Given the description of an element on the screen output the (x, y) to click on. 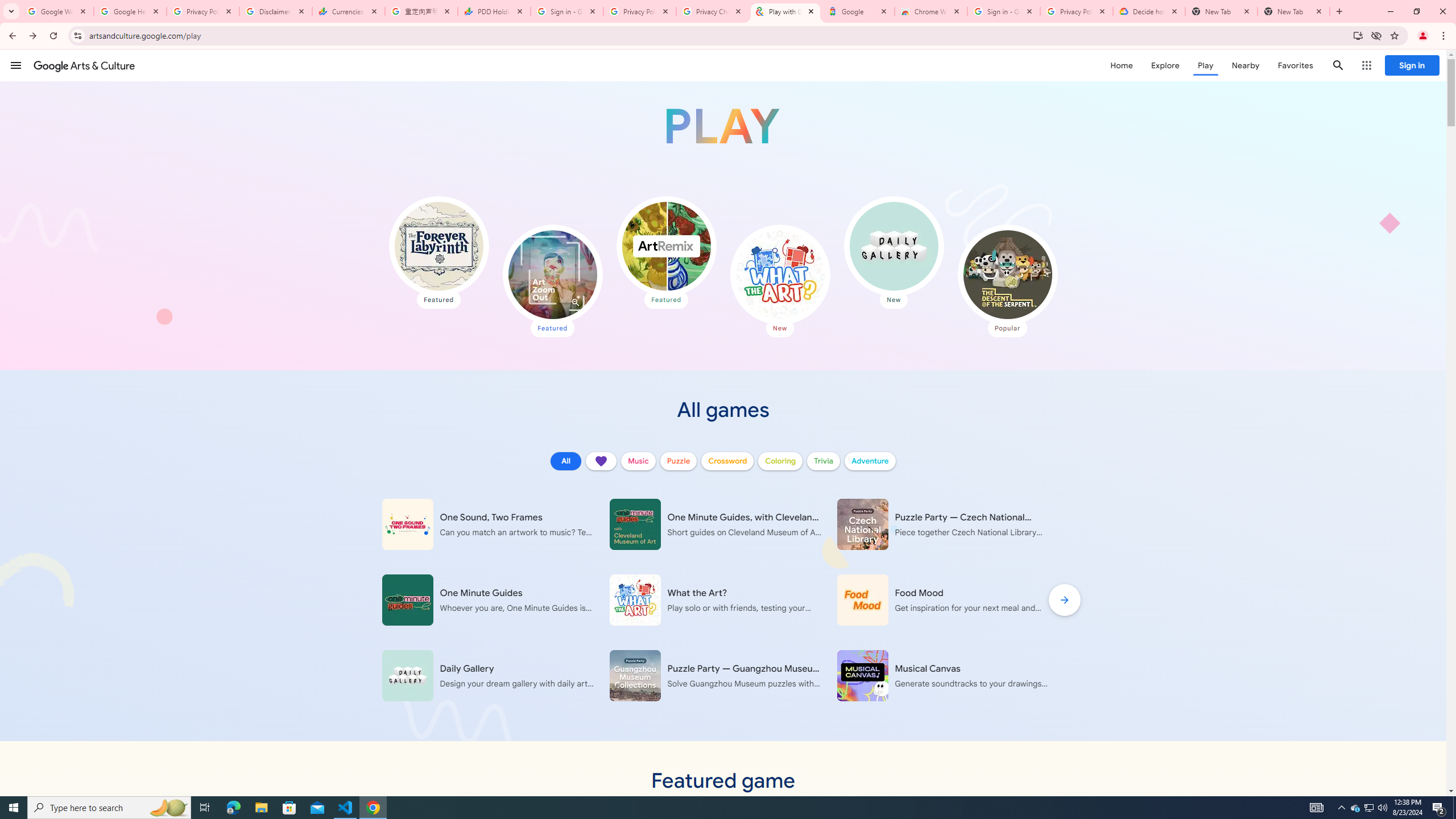
Sign in - Google Accounts (566, 11)
Google Workspace Admin Community (57, 11)
Play with Google Arts & Culture (722, 126)
Daily Gallery (893, 246)
Google (857, 11)
Currencies - Google Finance (348, 11)
Explore (1164, 65)
